Given the description of an element on the screen output the (x, y) to click on. 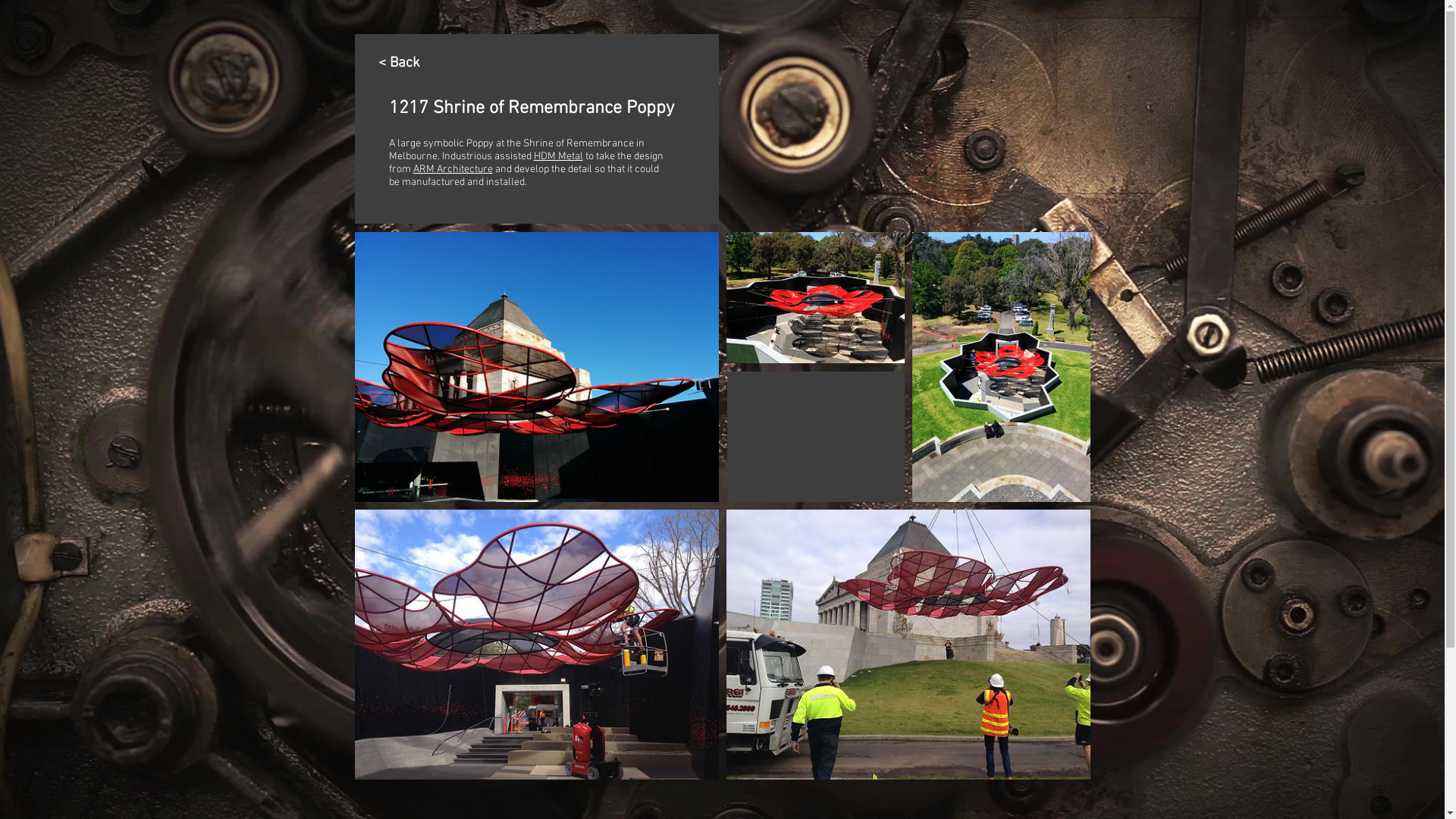
< Back Element type: text (398, 63)
HDM Metal Element type: text (558, 156)
ARM Architecture Element type: text (452, 169)
